Given the description of an element on the screen output the (x, y) to click on. 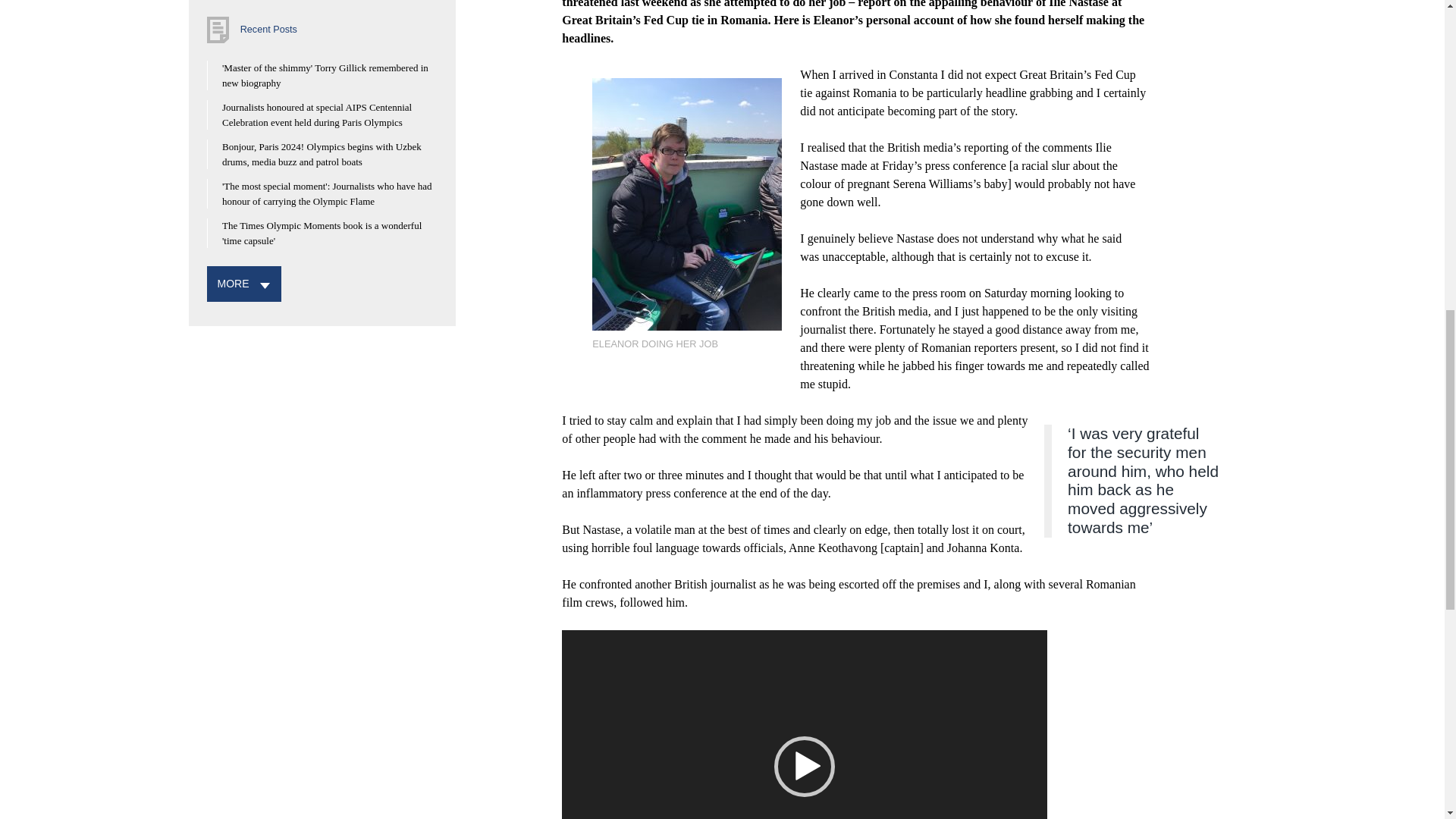
View more posts from the archive (232, 283)
